Given the description of an element on the screen output the (x, y) to click on. 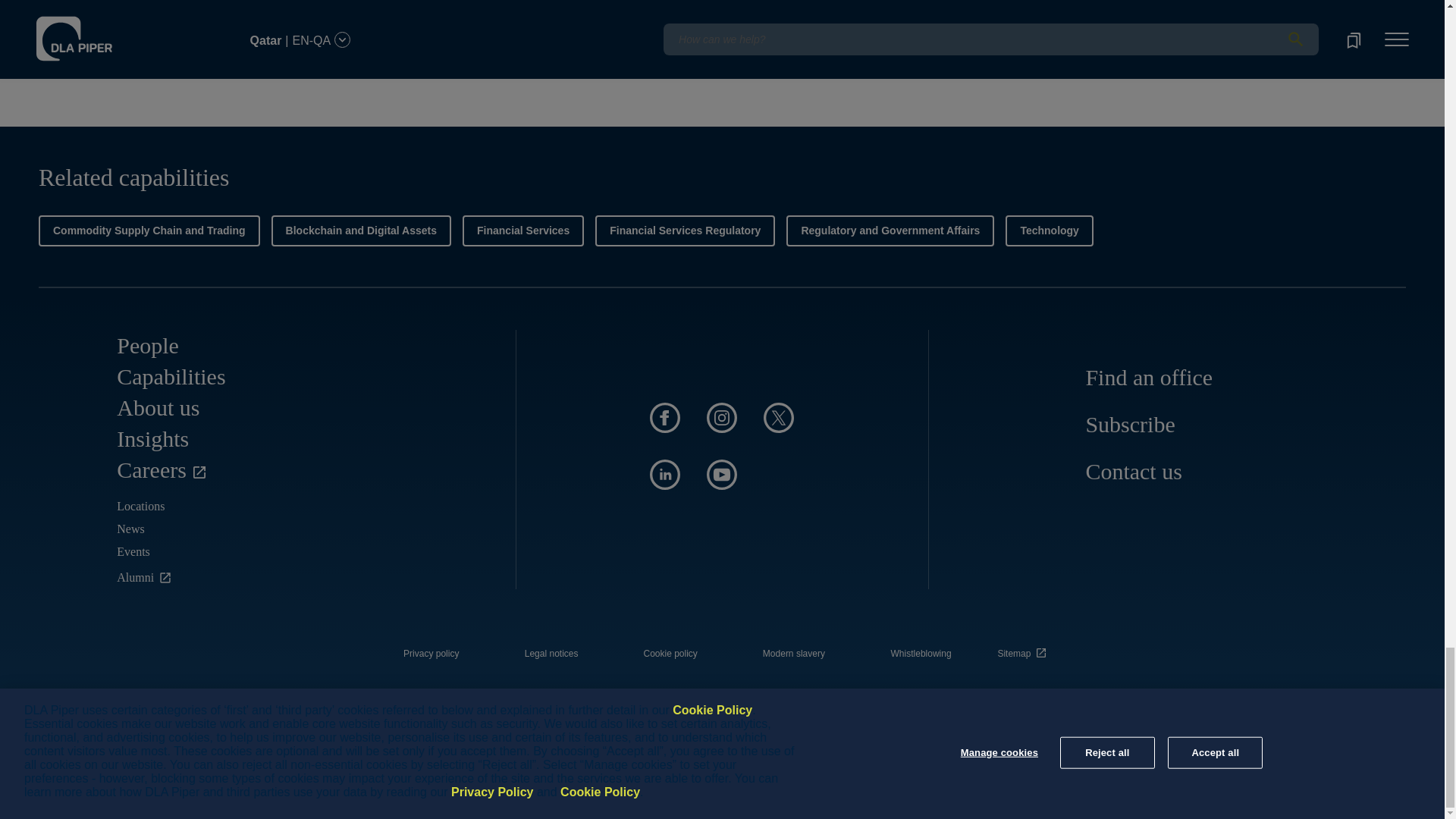
internal (670, 653)
external (1024, 649)
internal (793, 653)
internal (549, 653)
internal (430, 653)
internal (920, 653)
